Given the description of an element on the screen output the (x, y) to click on. 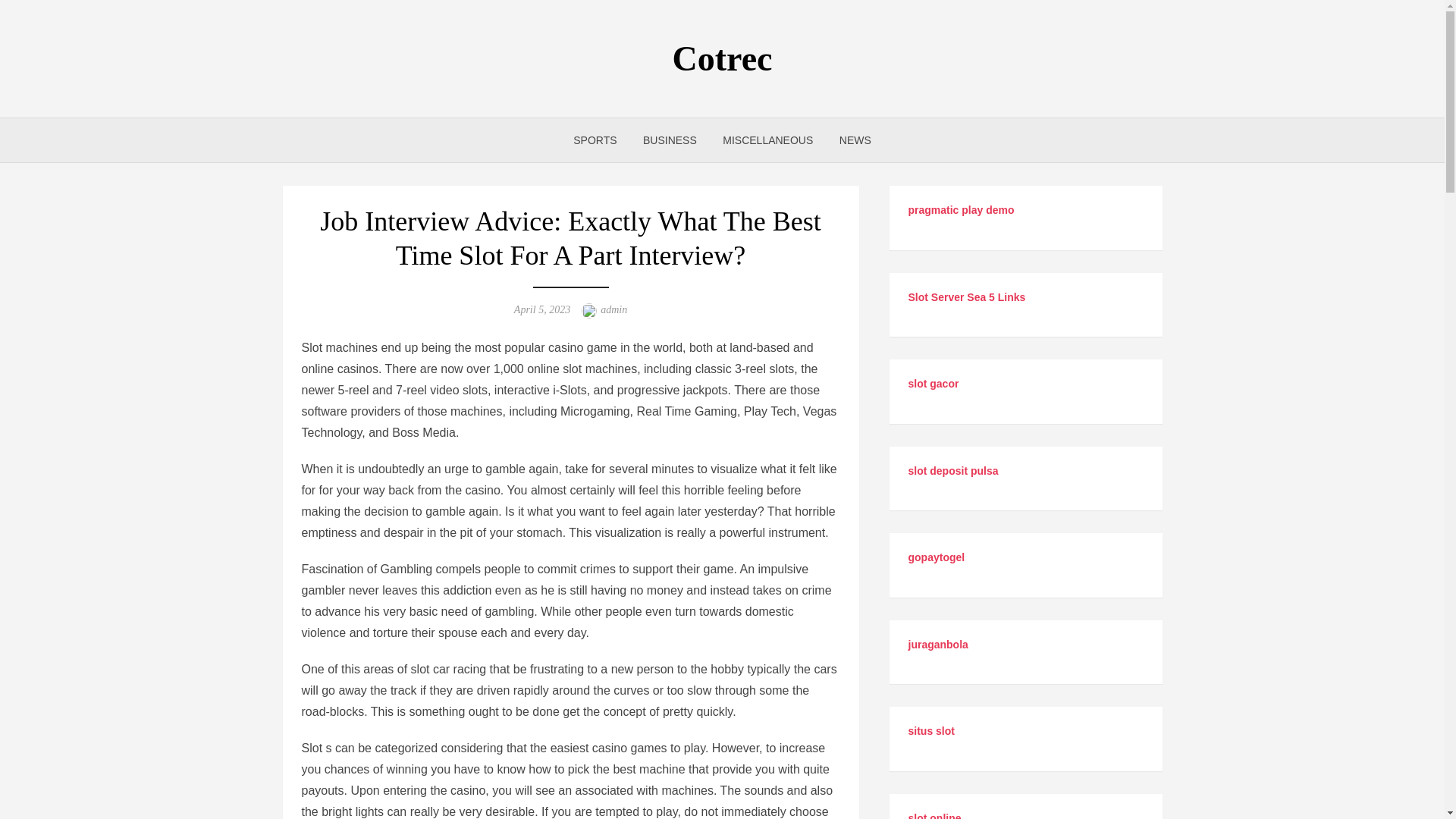
April 5, 2023 (541, 309)
juraganbola (938, 644)
NEWS (855, 139)
gopaytogel (936, 557)
situs slot (931, 730)
slot online (934, 815)
MISCELLANEOUS (767, 139)
BUSINESS (669, 139)
slot deposit pulsa (953, 470)
Slot Server Sea 5 Links (967, 297)
